Given the description of an element on the screen output the (x, y) to click on. 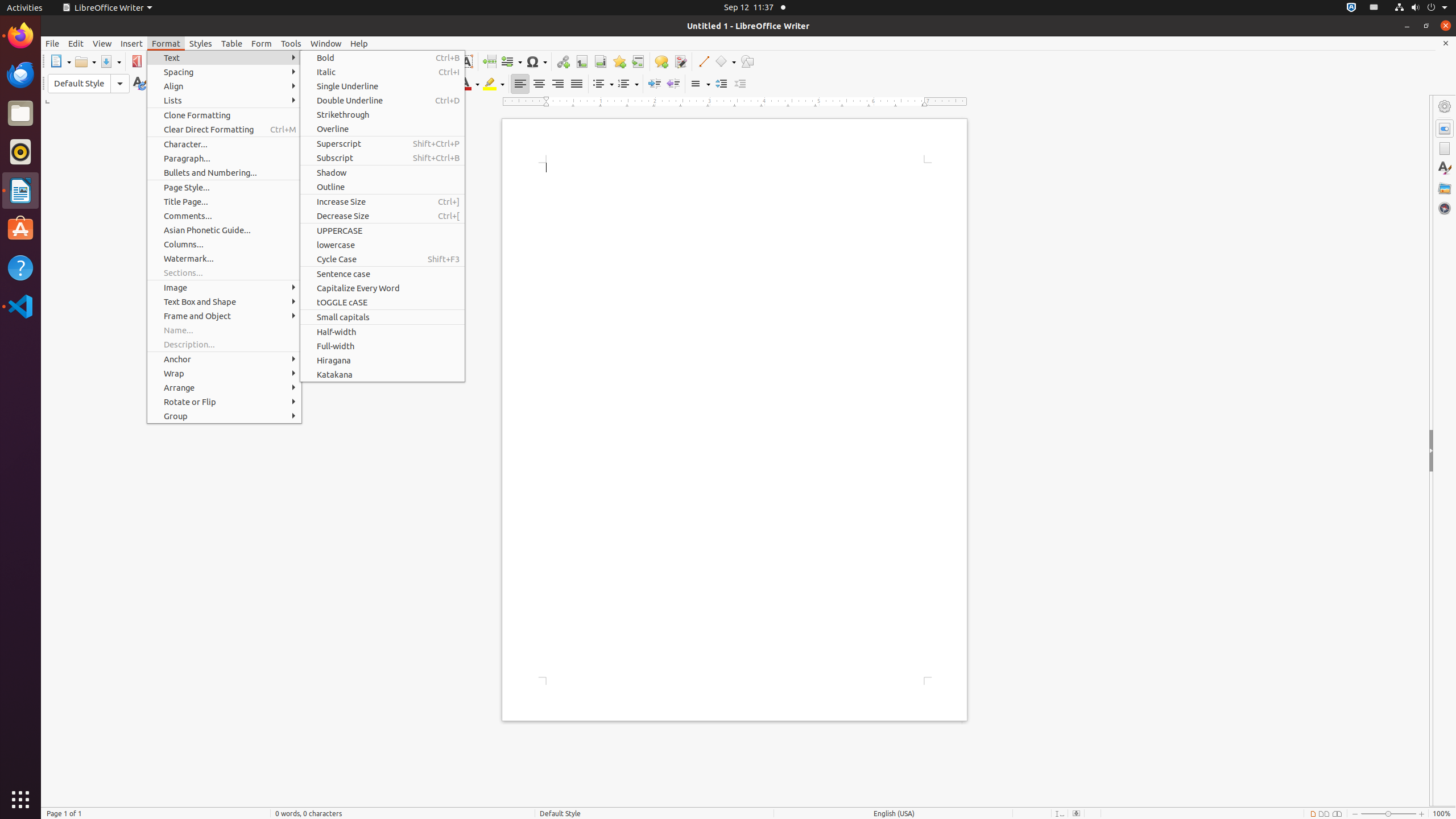
Track Changes Functions Element type: toggle-button (679, 61)
Frame and Object Element type: menu (224, 315)
Spelling Element type: push-button (361, 61)
Visual Studio Code Element type: push-button (20, 306)
Clear Element type: push-button (441, 83)
